Given the description of an element on the screen output the (x, y) to click on. 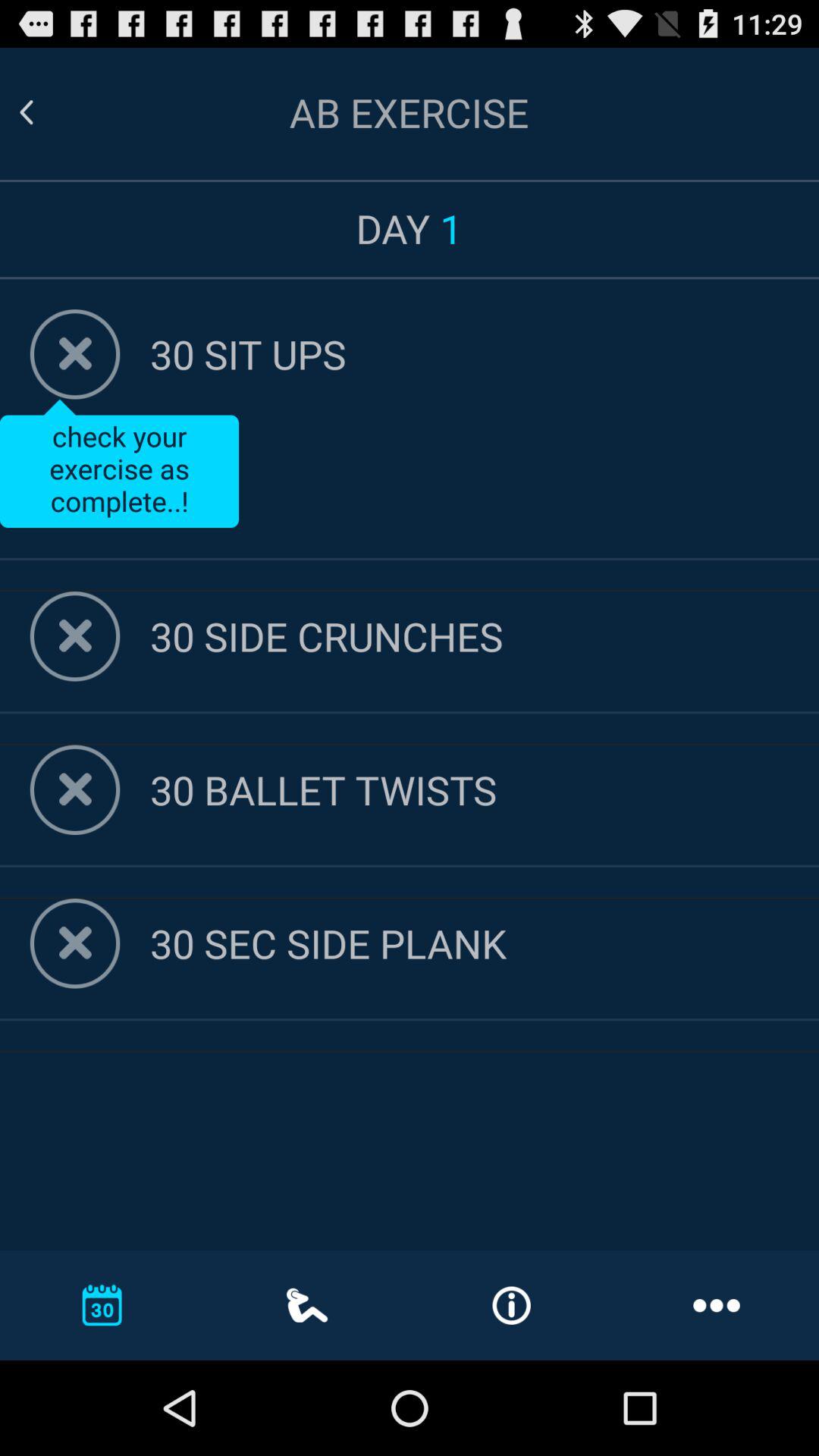
delete the entry (75, 636)
